Given the description of an element on the screen output the (x, y) to click on. 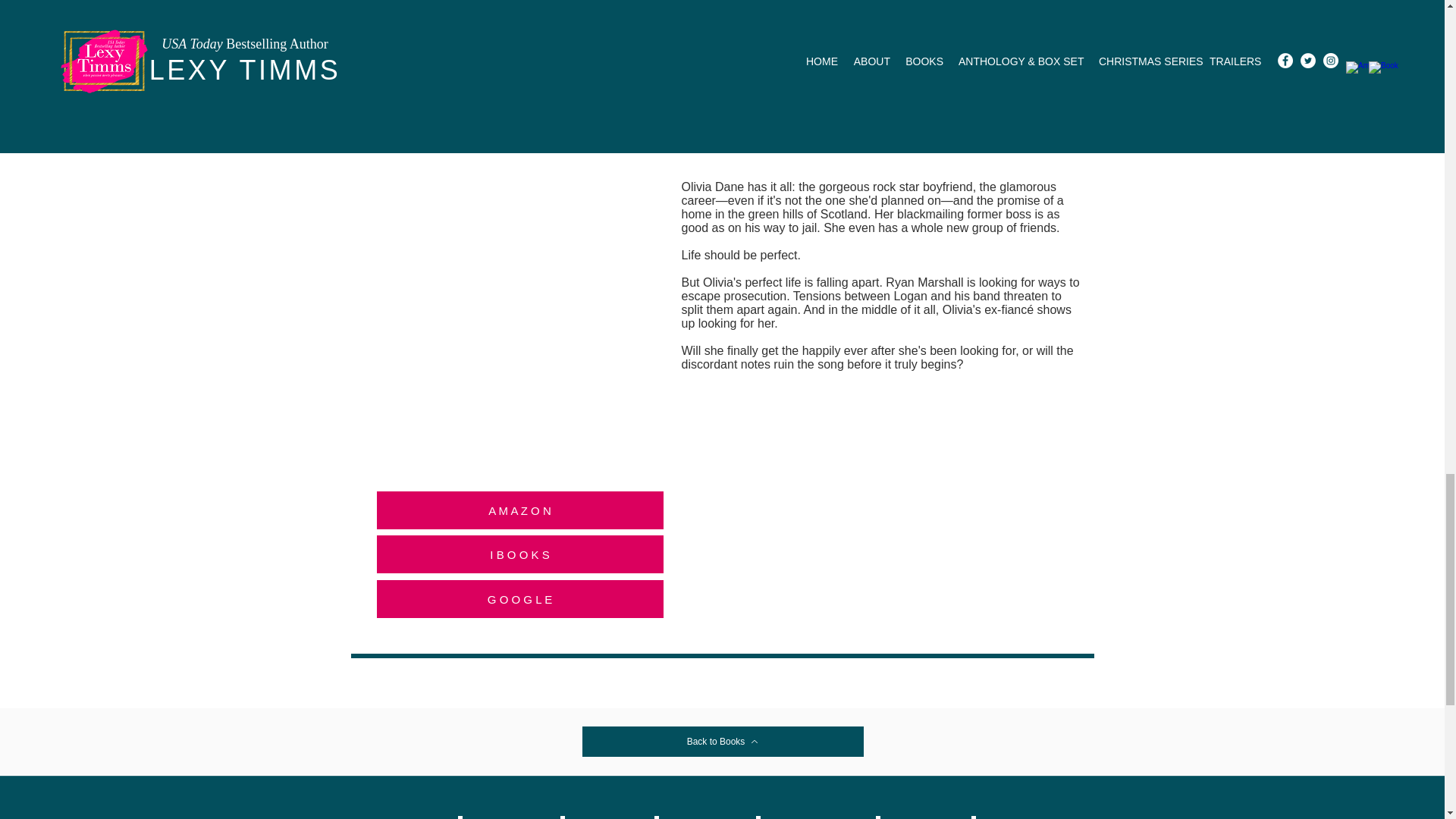
I B O O K S (518, 554)
A M A Z O N (518, 510)
Back to Books (722, 741)
G O O G L E (518, 598)
